Given the description of an element on the screen output the (x, y) to click on. 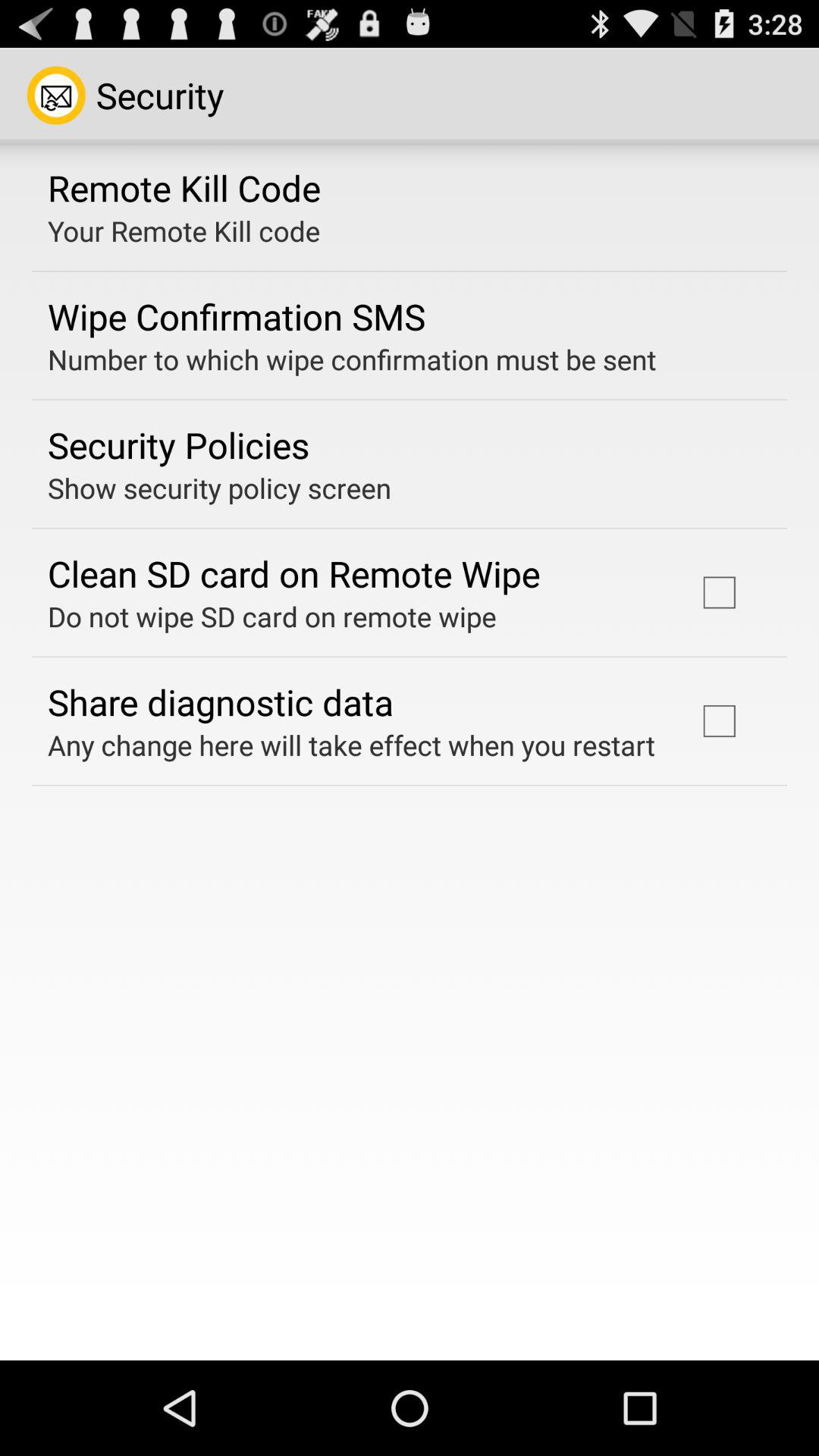
choose the icon above the share diagnostic data (271, 616)
